Given the description of an element on the screen output the (x, y) to click on. 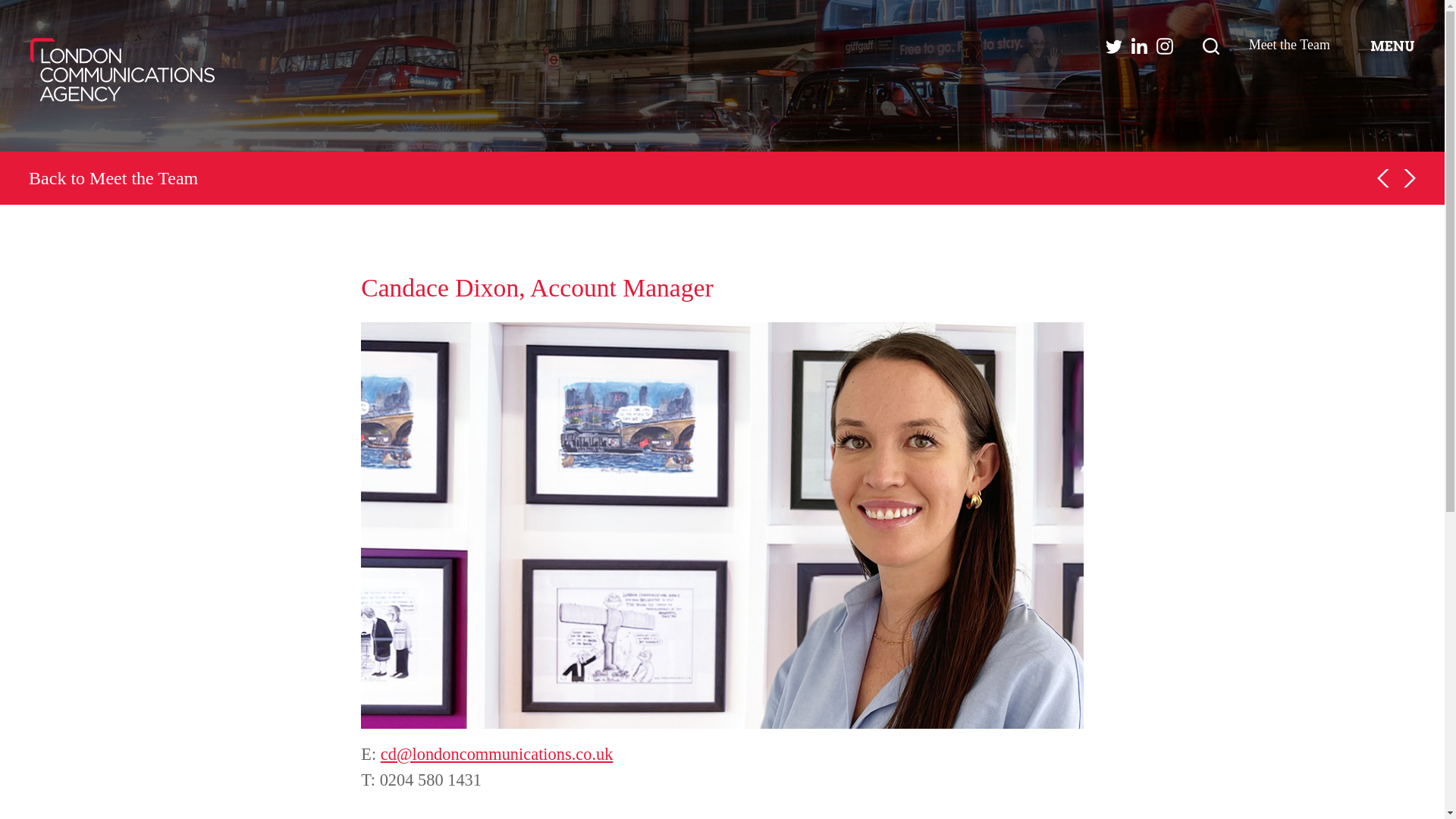
Twitter (1113, 45)
Instagram (1164, 45)
Back to Meet the Team (113, 178)
Instagram (1164, 45)
LinkedIn (1139, 45)
Twitter (1113, 45)
LinkedIn (1139, 45)
